Given the description of an element on the screen output the (x, y) to click on. 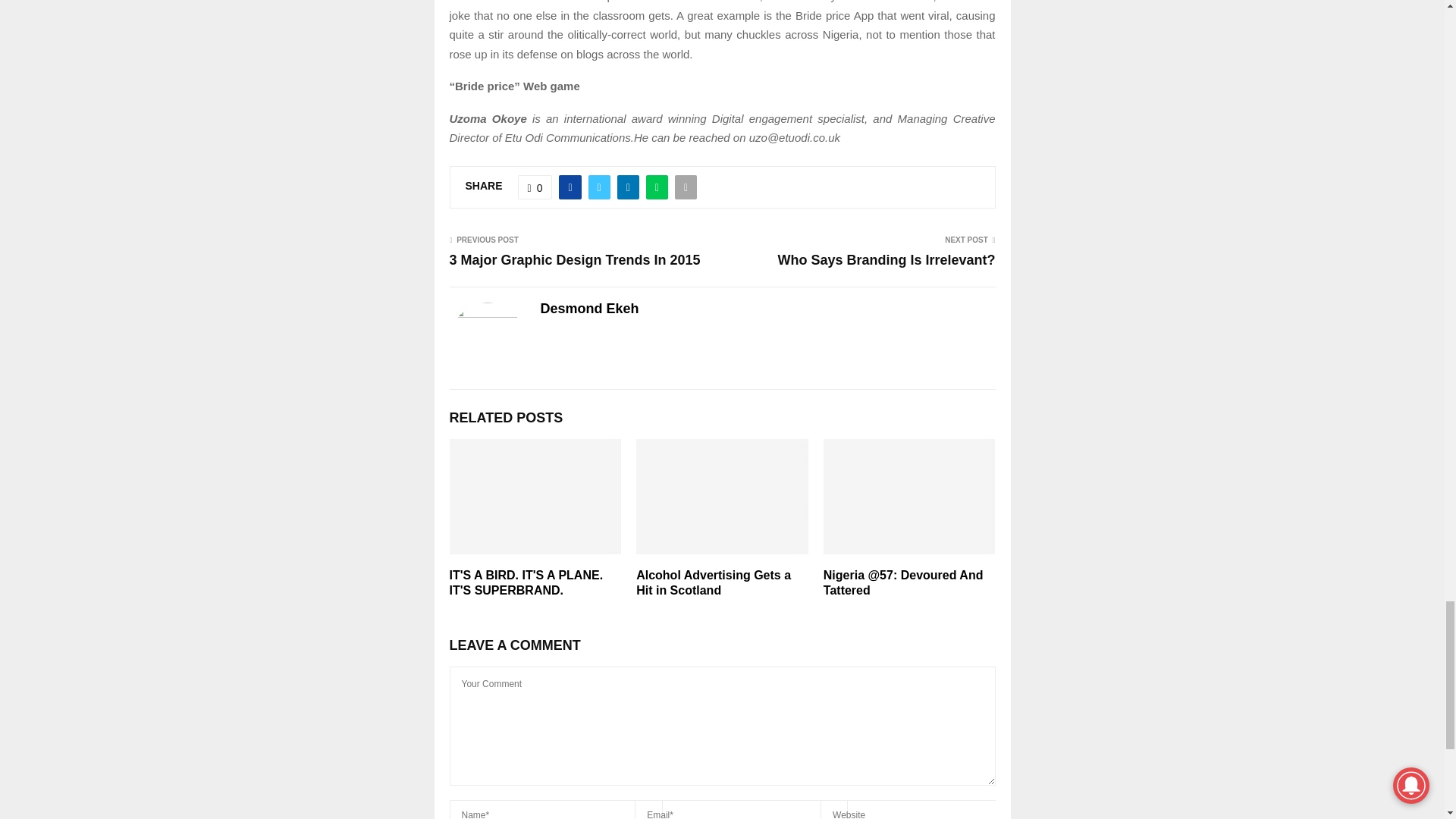
Like (535, 186)
Posts by Desmond Ekeh (589, 308)
